Given the description of an element on the screen output the (x, y) to click on. 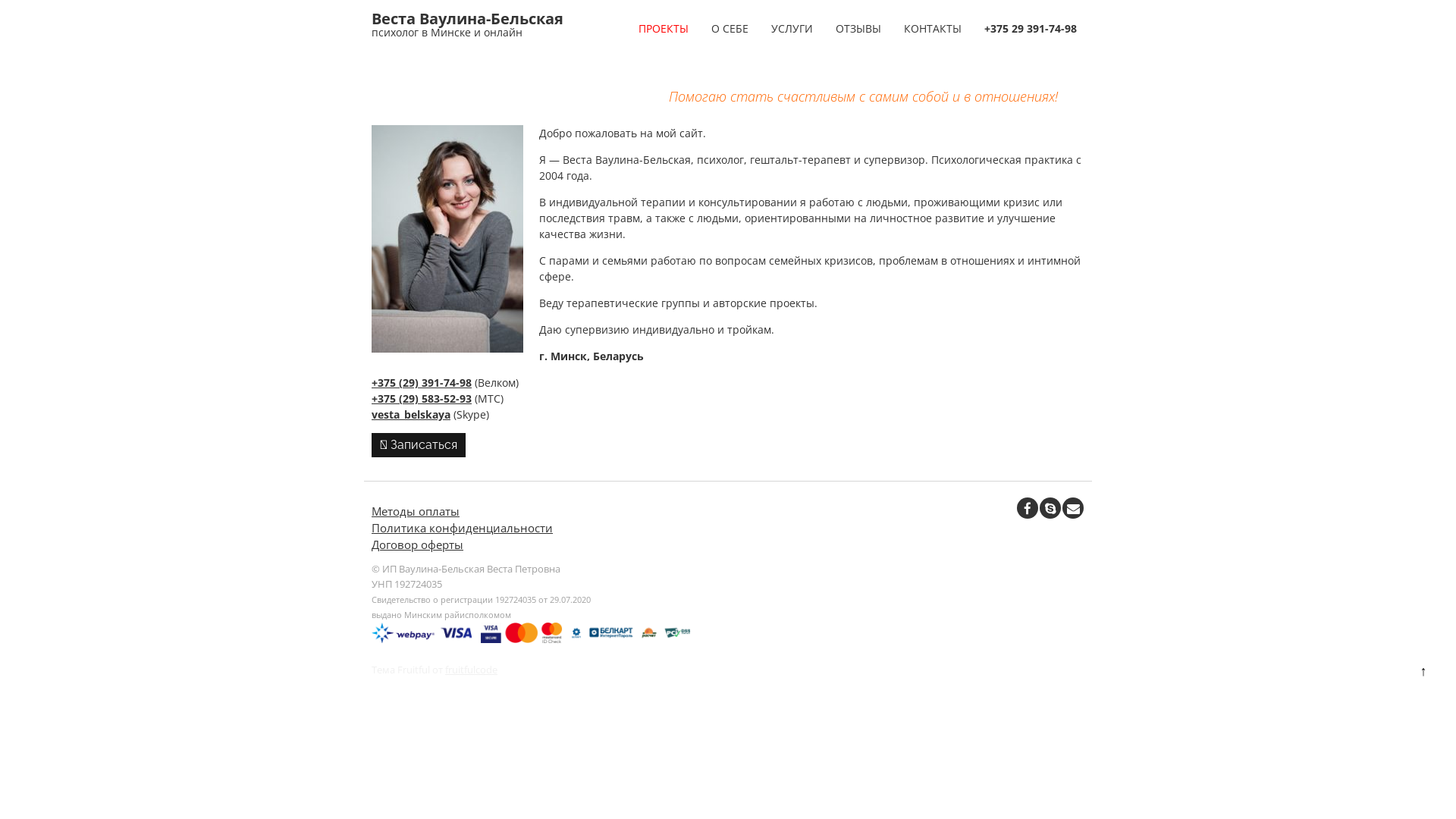
+375 (29) 583-52-93 Element type: text (421, 398)
vesta_belskaya Element type: text (410, 414)
fruitfulcode Element type: text (471, 669)
+375 29 391-74-98 Element type: text (1030, 28)
facebook Element type: hover (1027, 507)
+375 (29) 391-74-98 Element type: text (421, 382)
email Element type: hover (1072, 507)
skype Element type: hover (1049, 507)
